Given the description of an element on the screen output the (x, y) to click on. 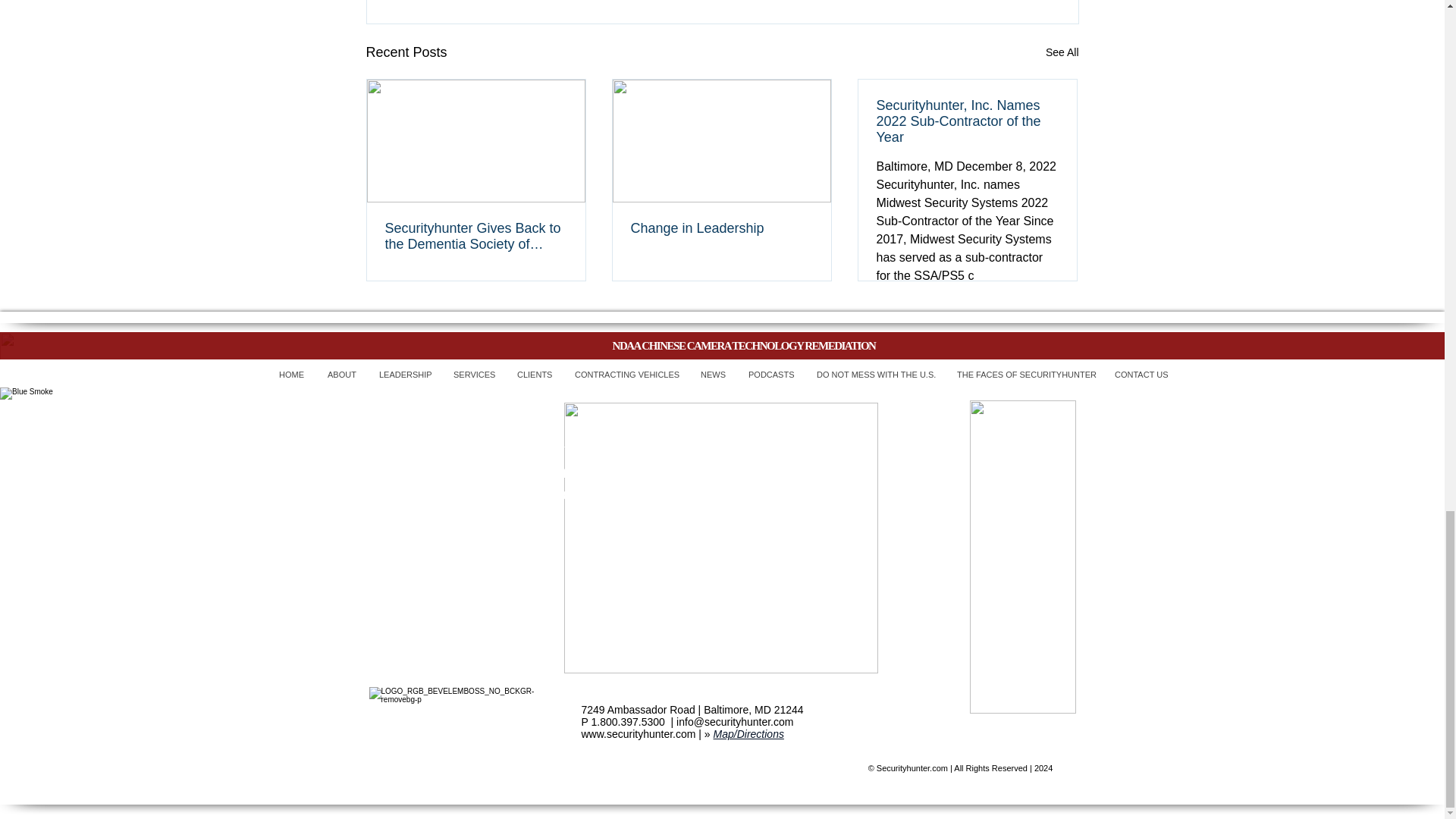
See All (1061, 52)
Michael S. Rogers, Founder, CEO and Chairman of the Board (720, 537)
